Given the description of an element on the screen output the (x, y) to click on. 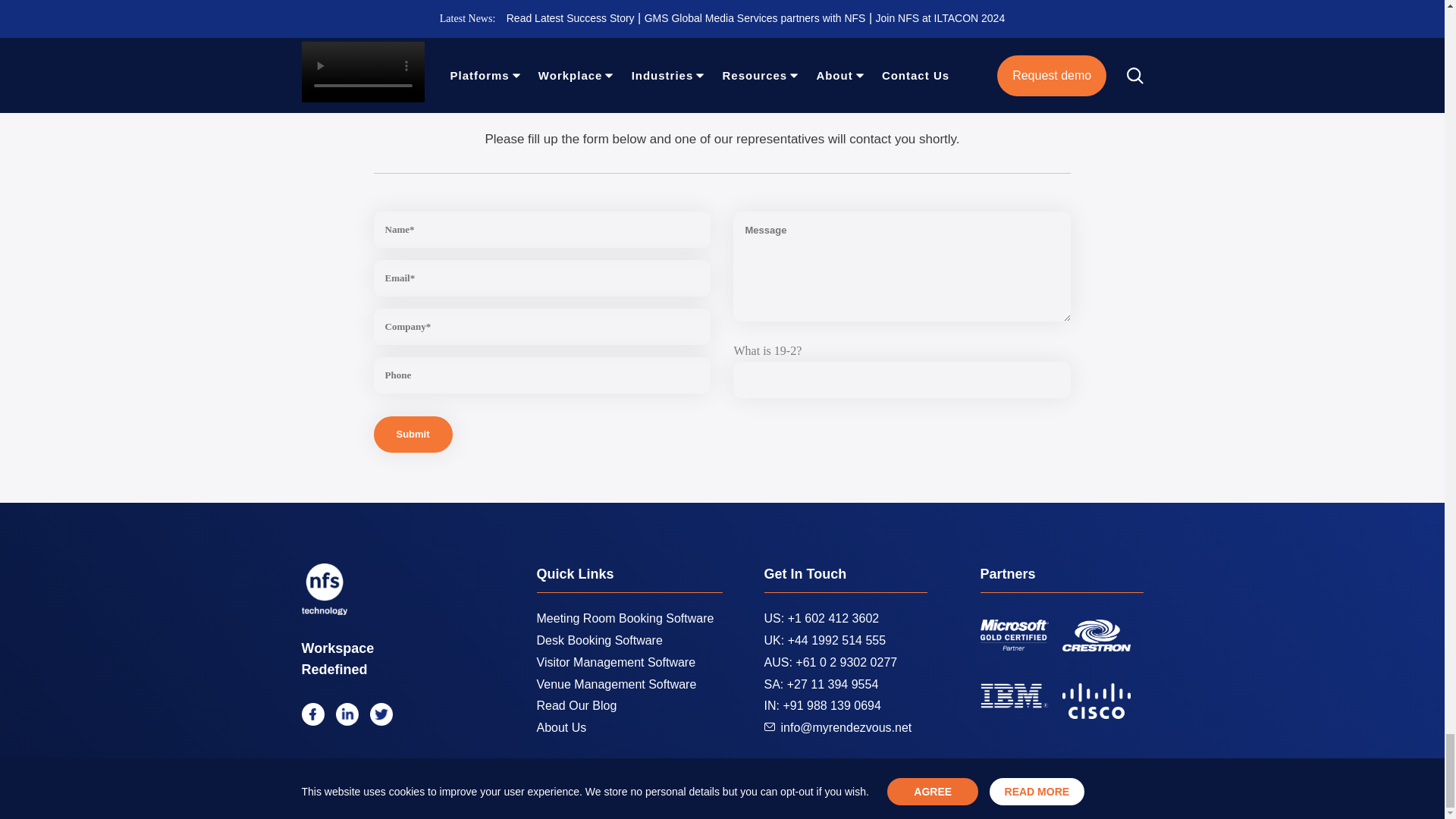
Submit (411, 434)
